Given the description of an element on the screen output the (x, y) to click on. 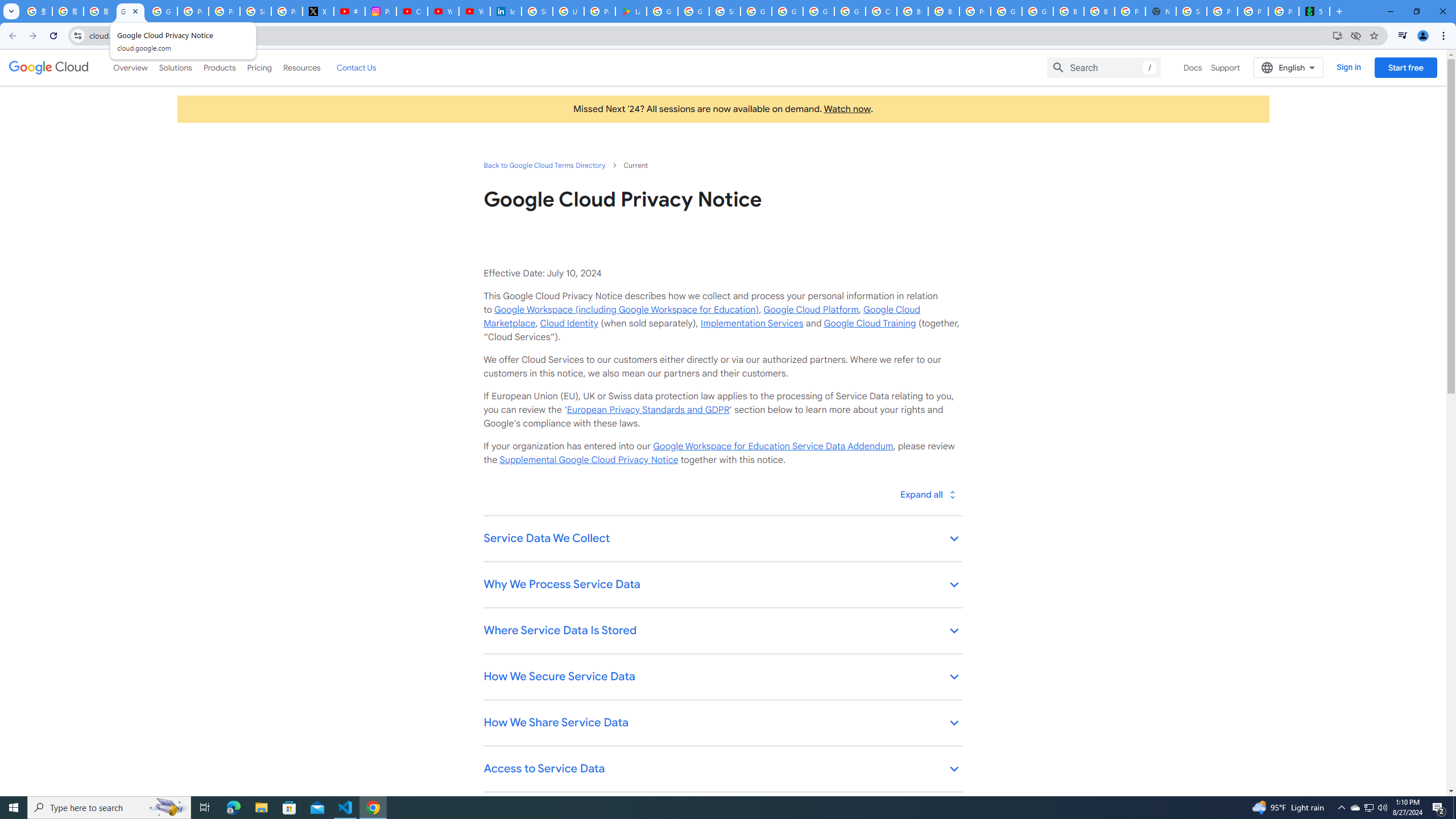
Sign in - Google Accounts (724, 11)
Sign in - Google Accounts (1190, 11)
How We Secure Service Data keyboard_arrow_down (722, 677)
New Tab (1160, 11)
Google Workspace for Education Service Data Addendum (772, 446)
Google Cloud Platform (810, 309)
Google Cloud Platform (818, 11)
Google Workspace - Specific Terms (693, 11)
YouTube Culture & Trends - YouTube Top 10, 2021 (474, 11)
